Given the description of an element on the screen output the (x, y) to click on. 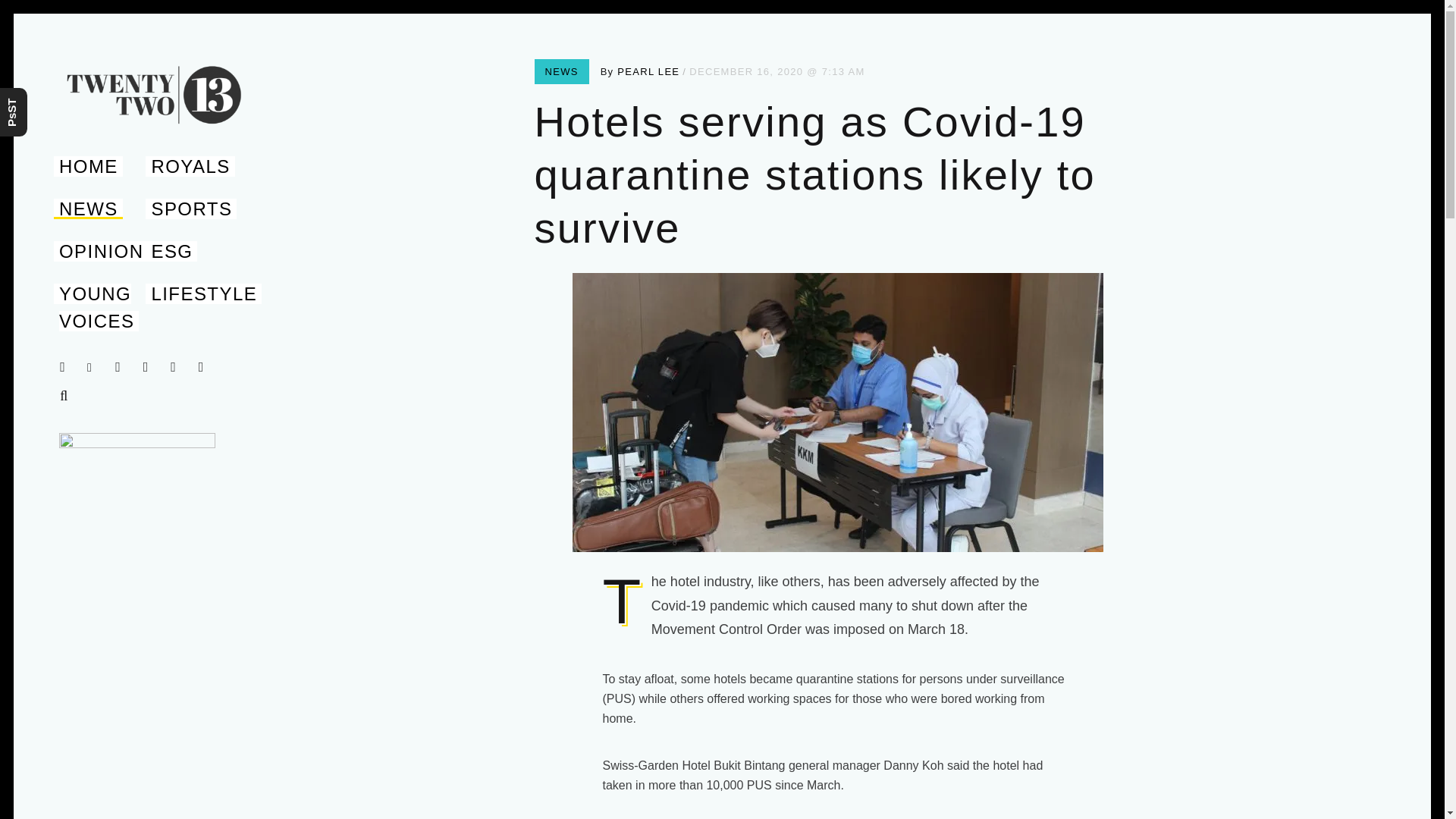
SPORTS (190, 209)
HOME (87, 166)
ESG (170, 250)
YOUNG VOICES (95, 307)
NEWS (561, 71)
SEARCH (66, 395)
TWENTYTWO13 (114, 142)
DECEMBER 16, 20207:13 AM (776, 71)
OPINION (100, 250)
LIFESTYLE (203, 293)
NEWS (87, 209)
PEARL LEE (648, 71)
ROYALS (189, 166)
